Given the description of an element on the screen output the (x, y) to click on. 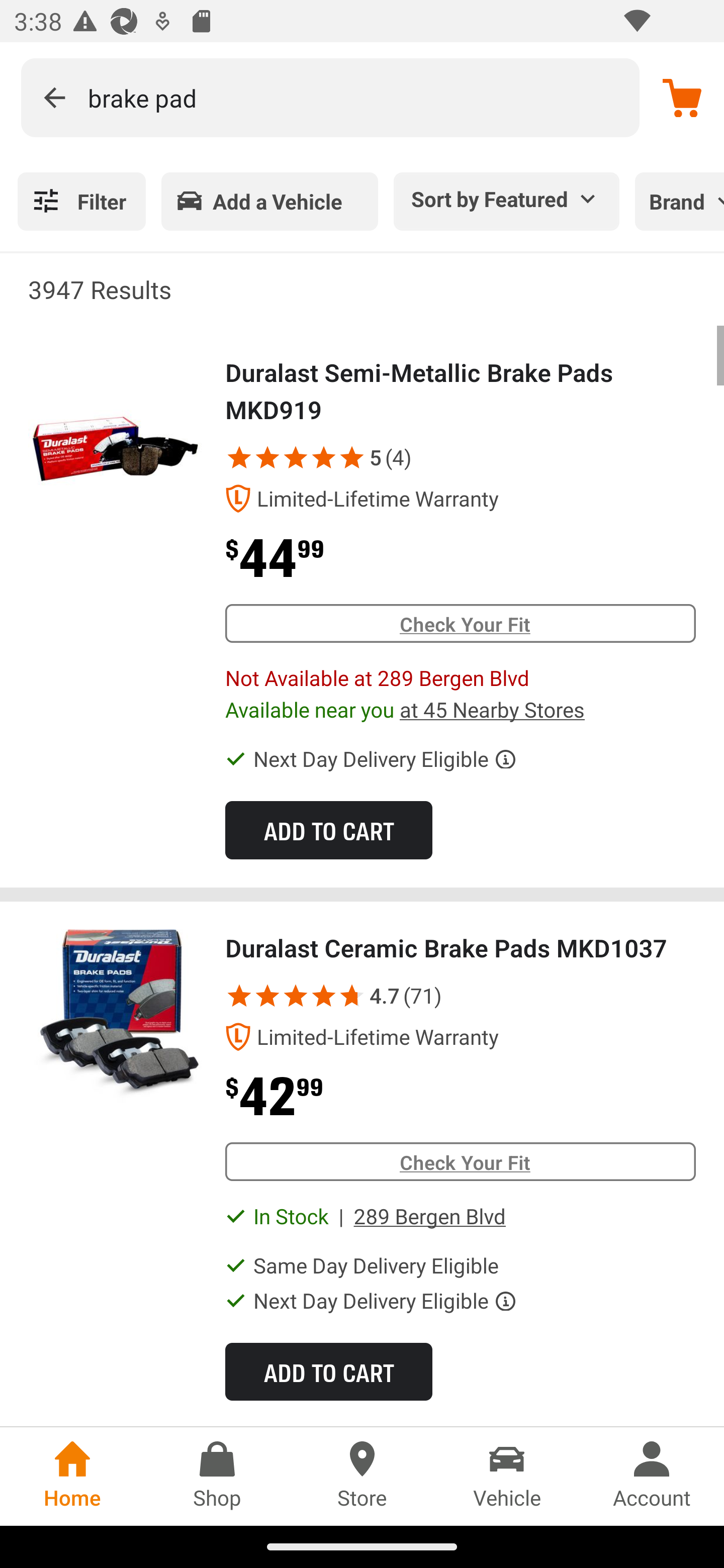
Find parts and products  brake pad (330, 97)
 (54, 97)
Cart, no items  (681, 97)
Filter (81, 201)
 Add a Vehicle (269, 201)
Brand  (679, 201)
collapsed Sort by Featured  (506, 198)
Duralast Semi-Metallic Brake Pads MKD919 (116, 441)
 (239, 457)
 (267, 457)
 (295, 457)
 (323, 457)
 (352, 457)
Check your fit Check Your Fit (460, 622)
Add to cart ADD TO CART (328, 830)
Duralast Ceramic Brake Pads MKD1037 (116, 1017)
 (239, 995)
 (267, 995)
 (295, 995)
 (323, 995)
 (347, 995)
Check your fit Check Your Fit (460, 1161)
In Stock  |  289 Bergen Blvd (379, 1216)
Add to cart ADD TO CART (328, 1371)
Home (72, 1475)
Shop (216, 1475)
Store (361, 1475)
Vehicle (506, 1475)
Account (651, 1475)
